Given the description of an element on the screen output the (x, y) to click on. 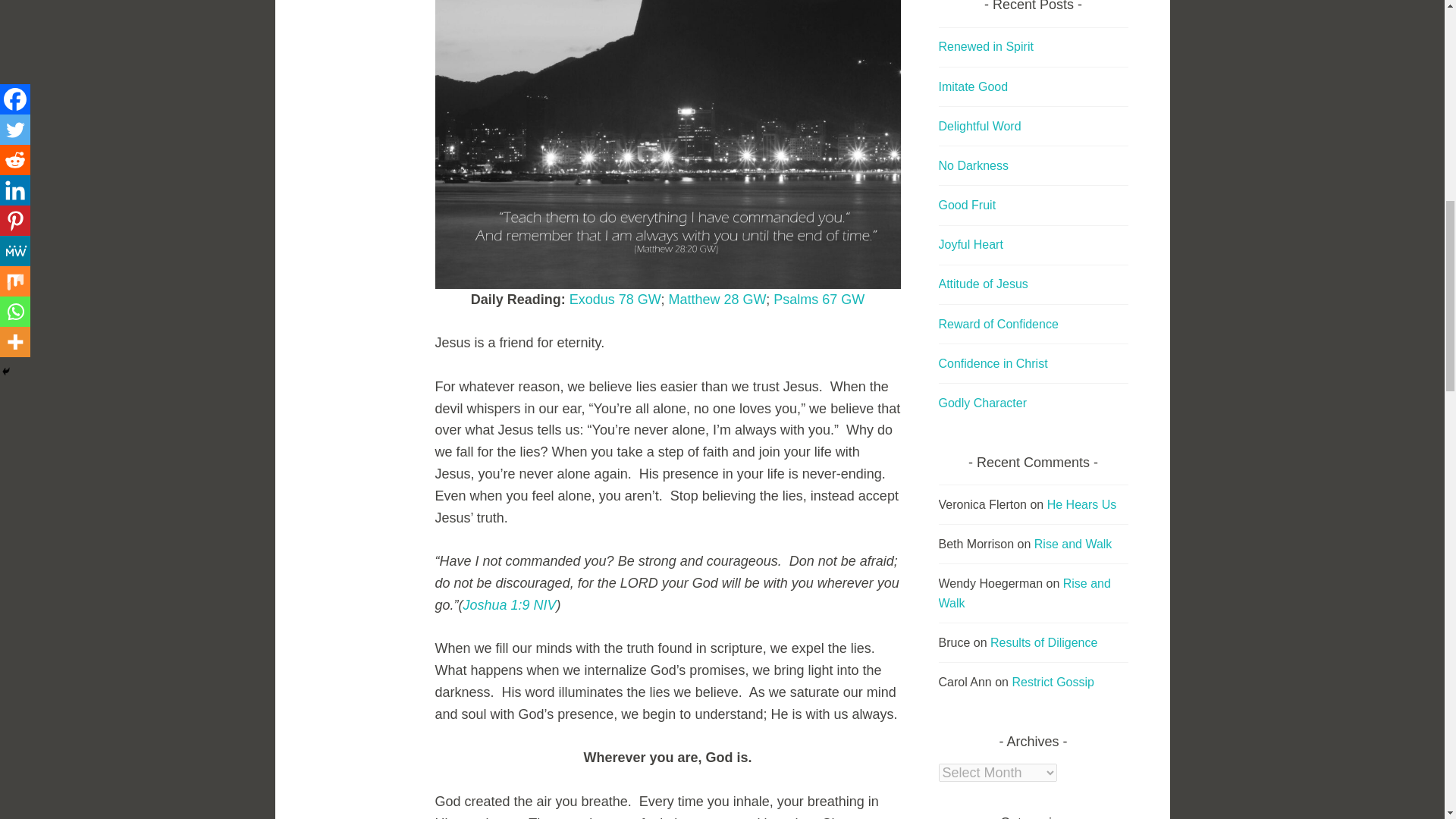
Joshua 1:9 NIV (509, 604)
Psalms 67 GW (818, 299)
Exodus 78 GW (615, 299)
Matthew 28 GW (717, 299)
